Given the description of an element on the screen output the (x, y) to click on. 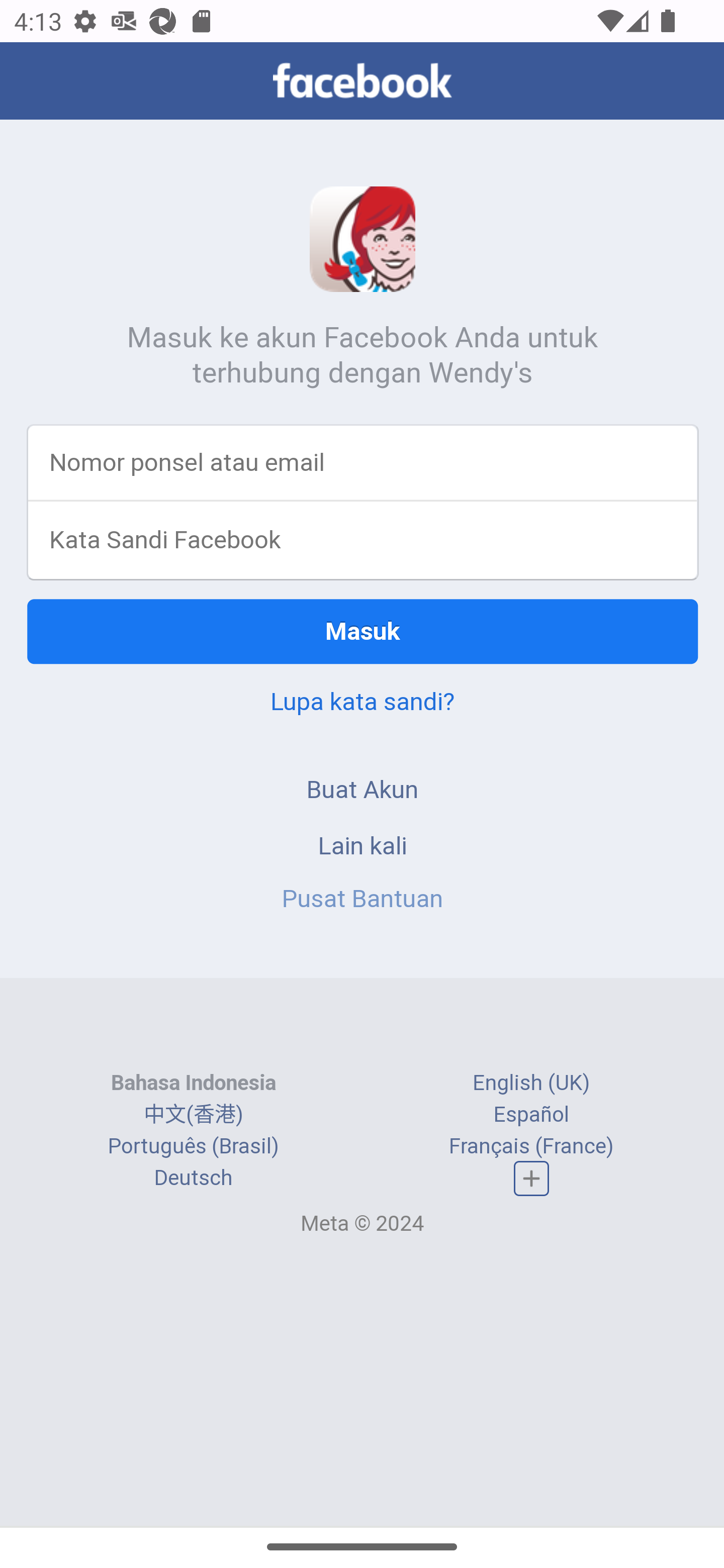
facebook (361, 80)
Masuk (363, 630)
Lupa kata sandi? (362, 702)
Buat Akun (363, 789)
Lain kali (362, 845)
Pusat Bantuan (363, 898)
English (UK) (531, 1082)
中文(香港) (193, 1113)
Español (531, 1113)
Português (Brasil) (193, 1145)
Français (France) (530, 1145)
Daftar bahasa lengkap (531, 1178)
Deutsch (192, 1177)
